Given the description of an element on the screen output the (x, y) to click on. 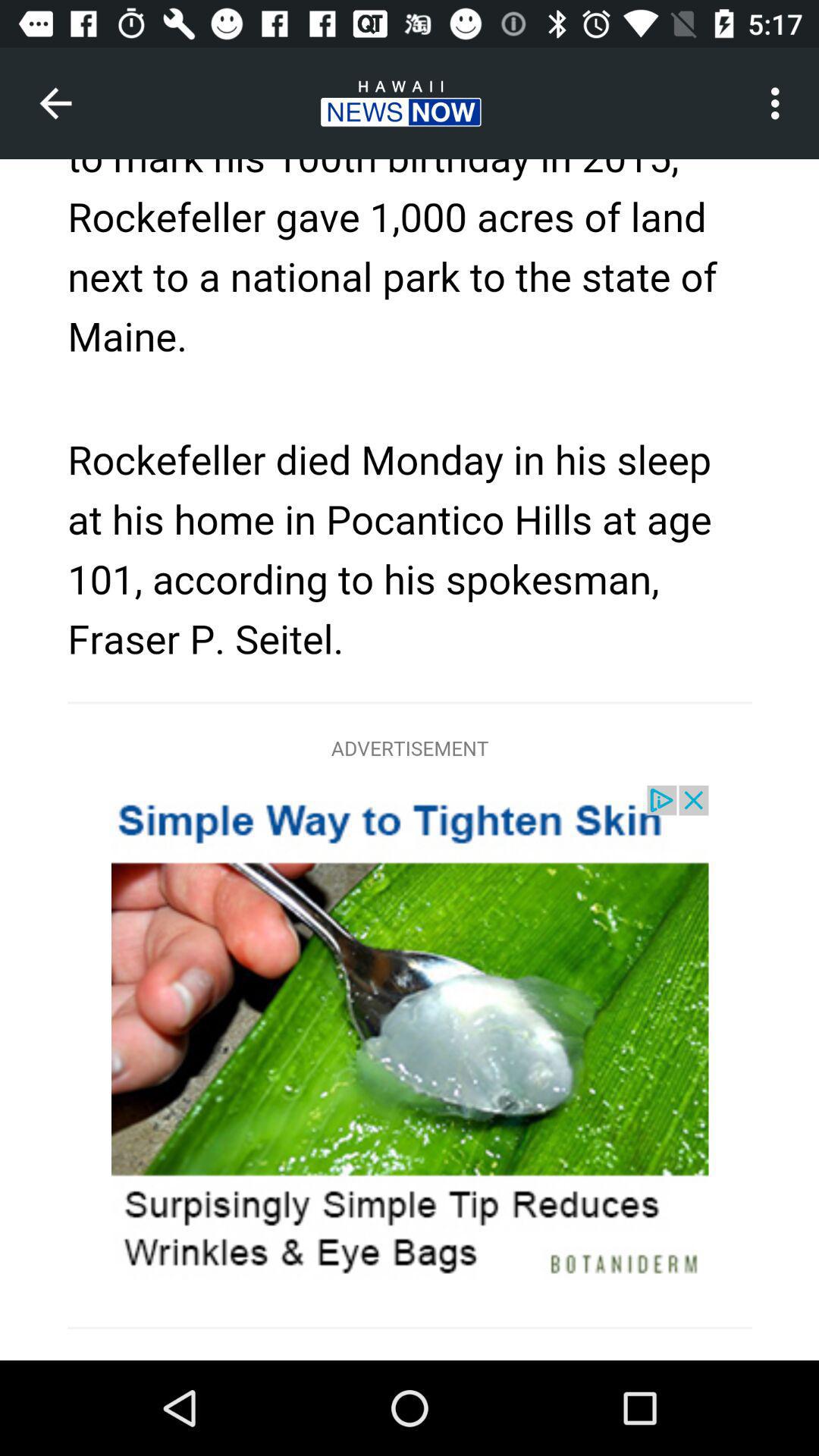
advertisement (409, 759)
